Given the description of an element on the screen output the (x, y) to click on. 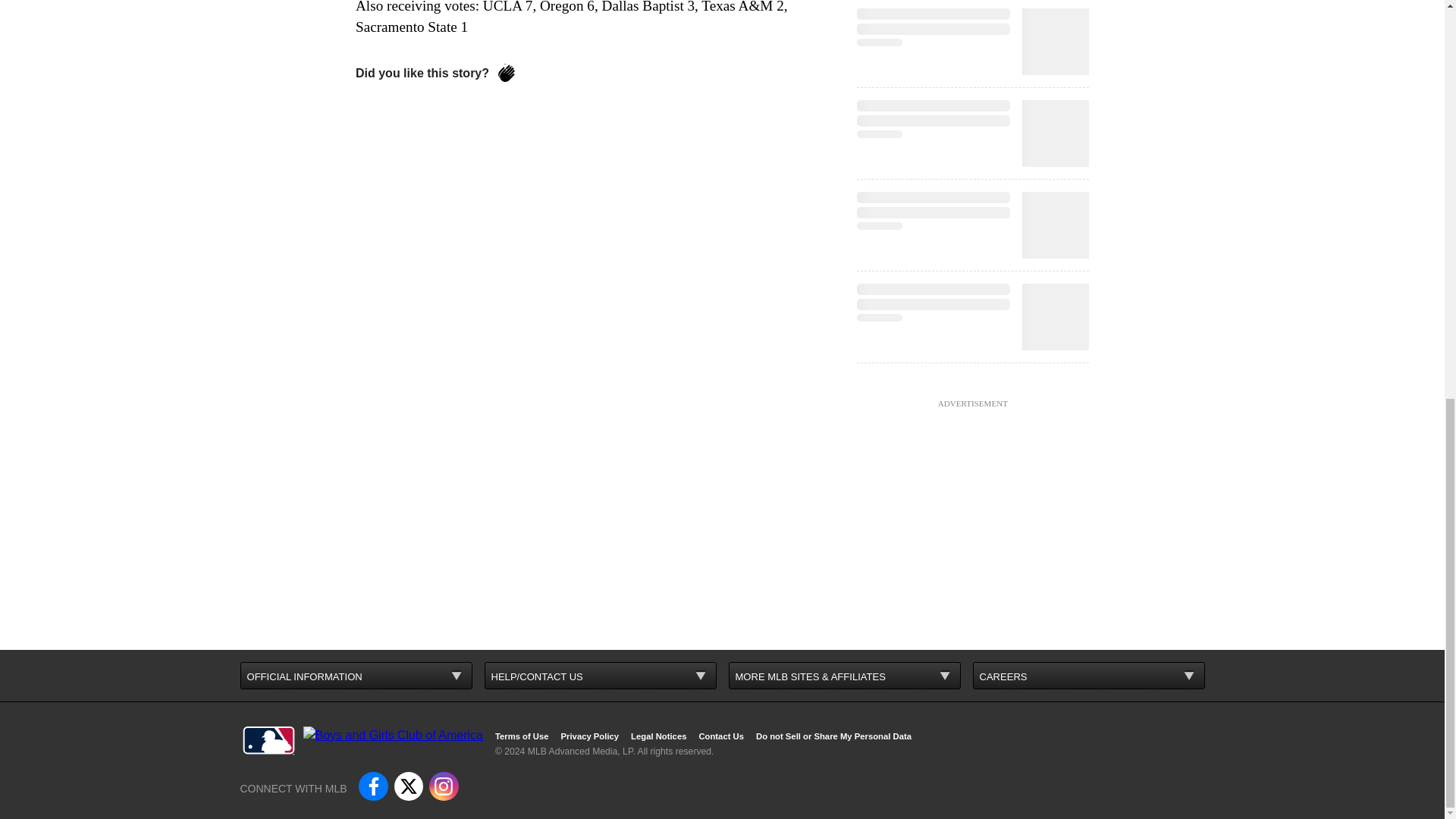
CAREERS (1088, 675)
OFFICIAL INFORMATION (355, 675)
Follow on twitter (408, 786)
Follow on instagram (443, 786)
Follow on facebook (372, 786)
